Given the description of an element on the screen output the (x, y) to click on. 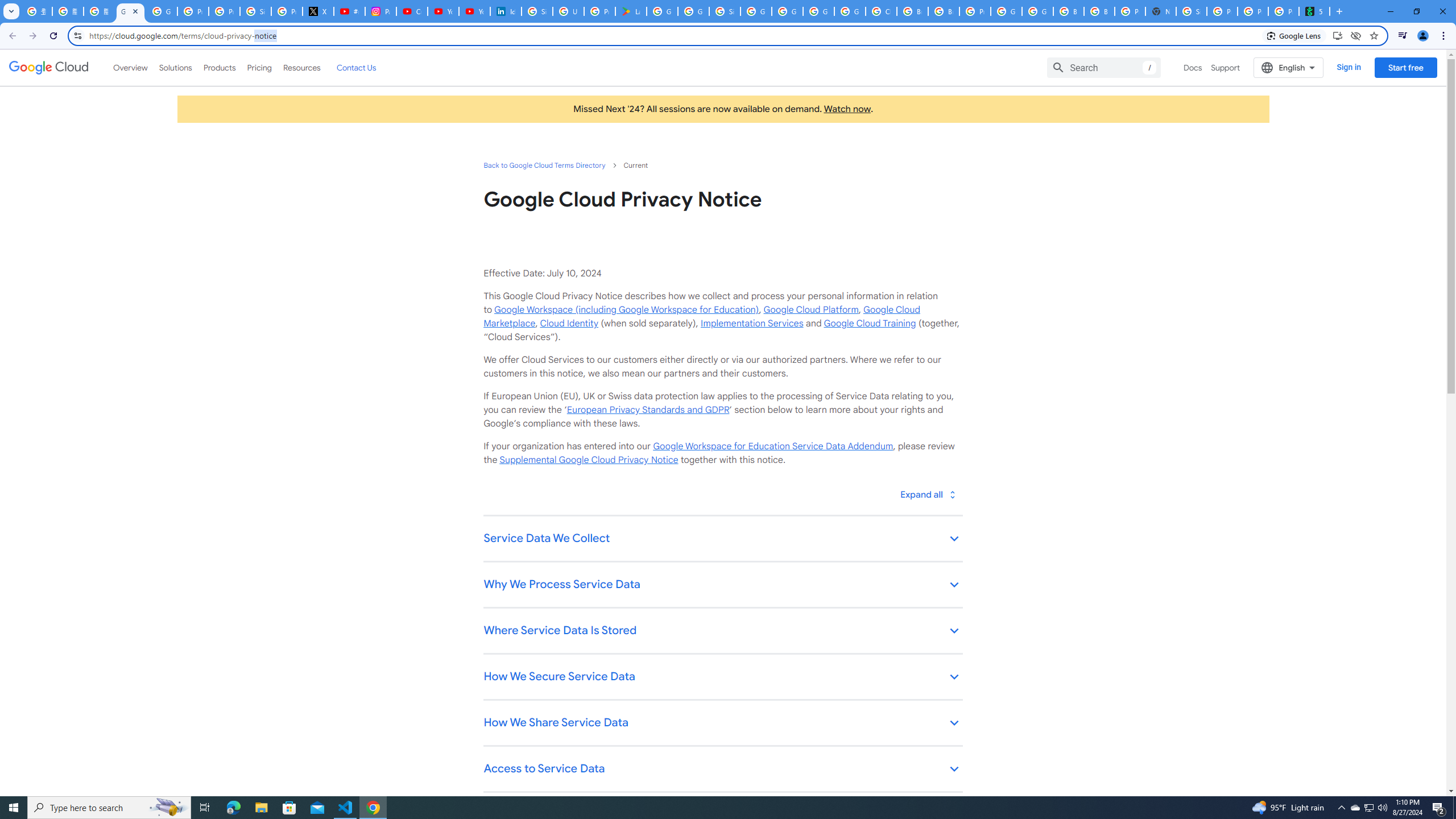
Support (1225, 67)
Pricing (259, 67)
